Given the description of an element on the screen output the (x, y) to click on. 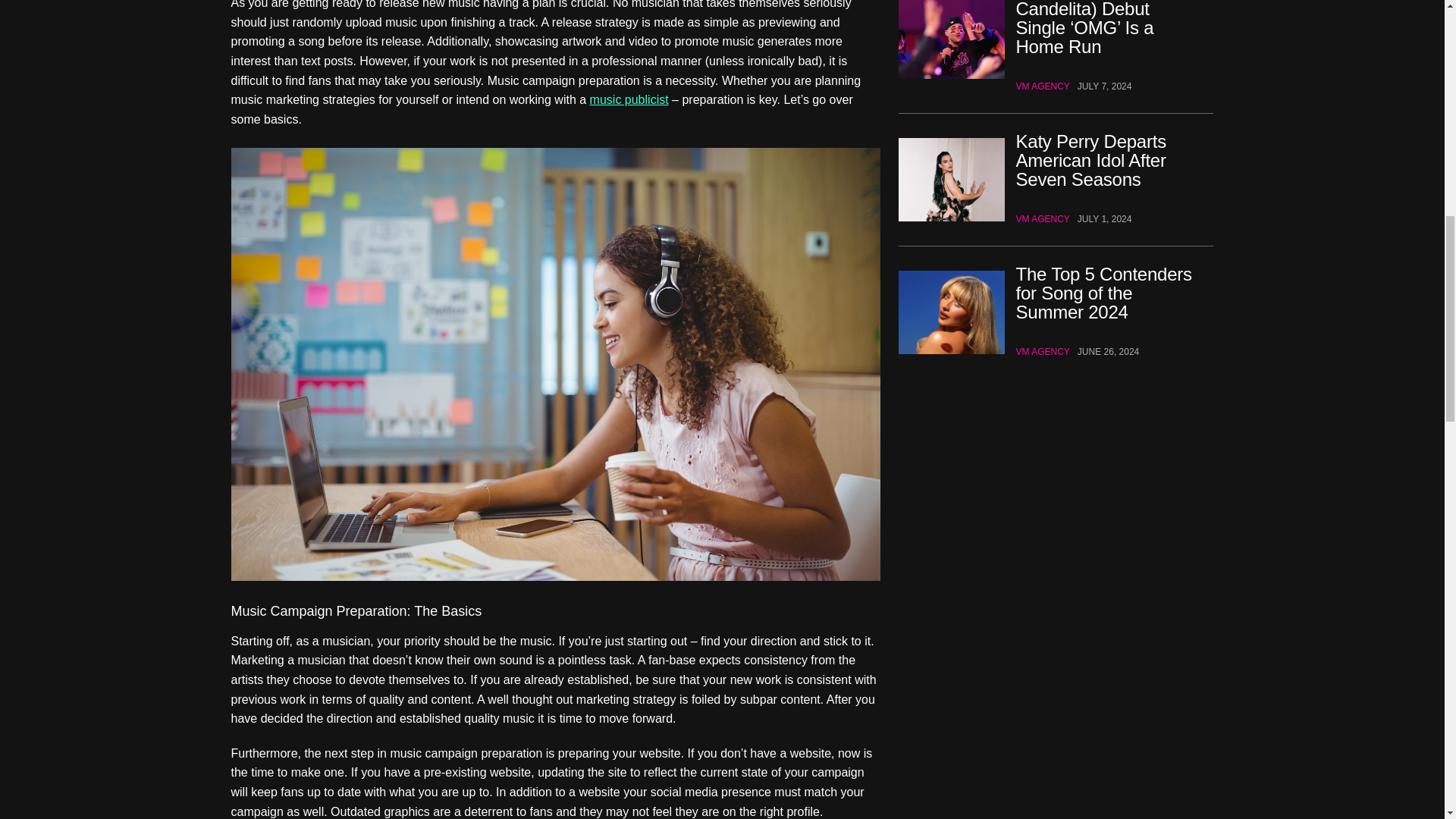
music publicist (628, 99)
